Given the description of an element on the screen output the (x, y) to click on. 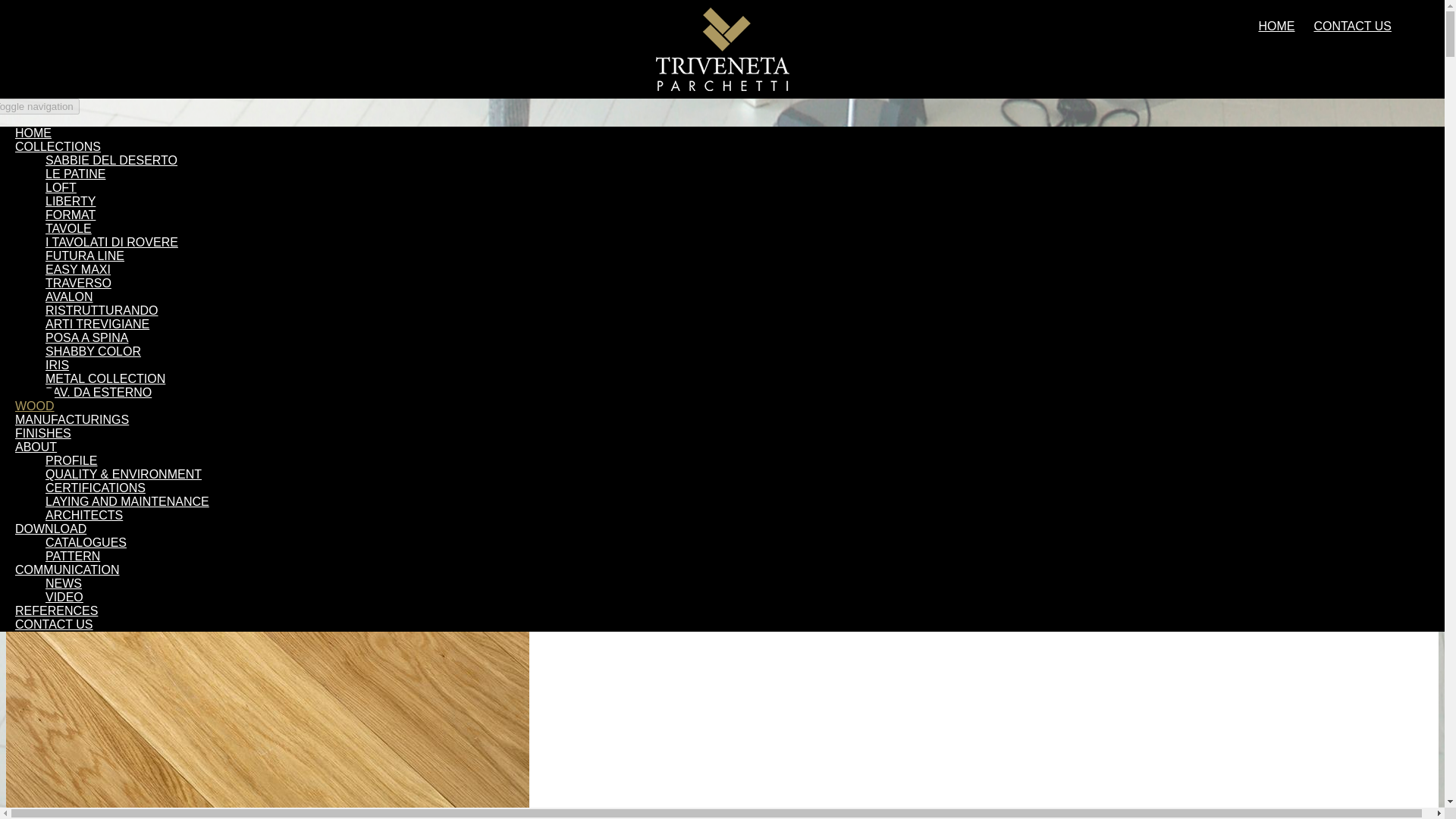
METAL COLLECTION (105, 378)
IRIS (56, 364)
CONTACT US (1352, 25)
ARTI TREVIGIANE (97, 323)
CATALOGUES (85, 542)
LOFT (61, 187)
TAVOLE (68, 228)
Toggle navigation (40, 106)
TRAVERSO (78, 282)
SHABBY COLOR (93, 350)
